Given the description of an element on the screen output the (x, y) to click on. 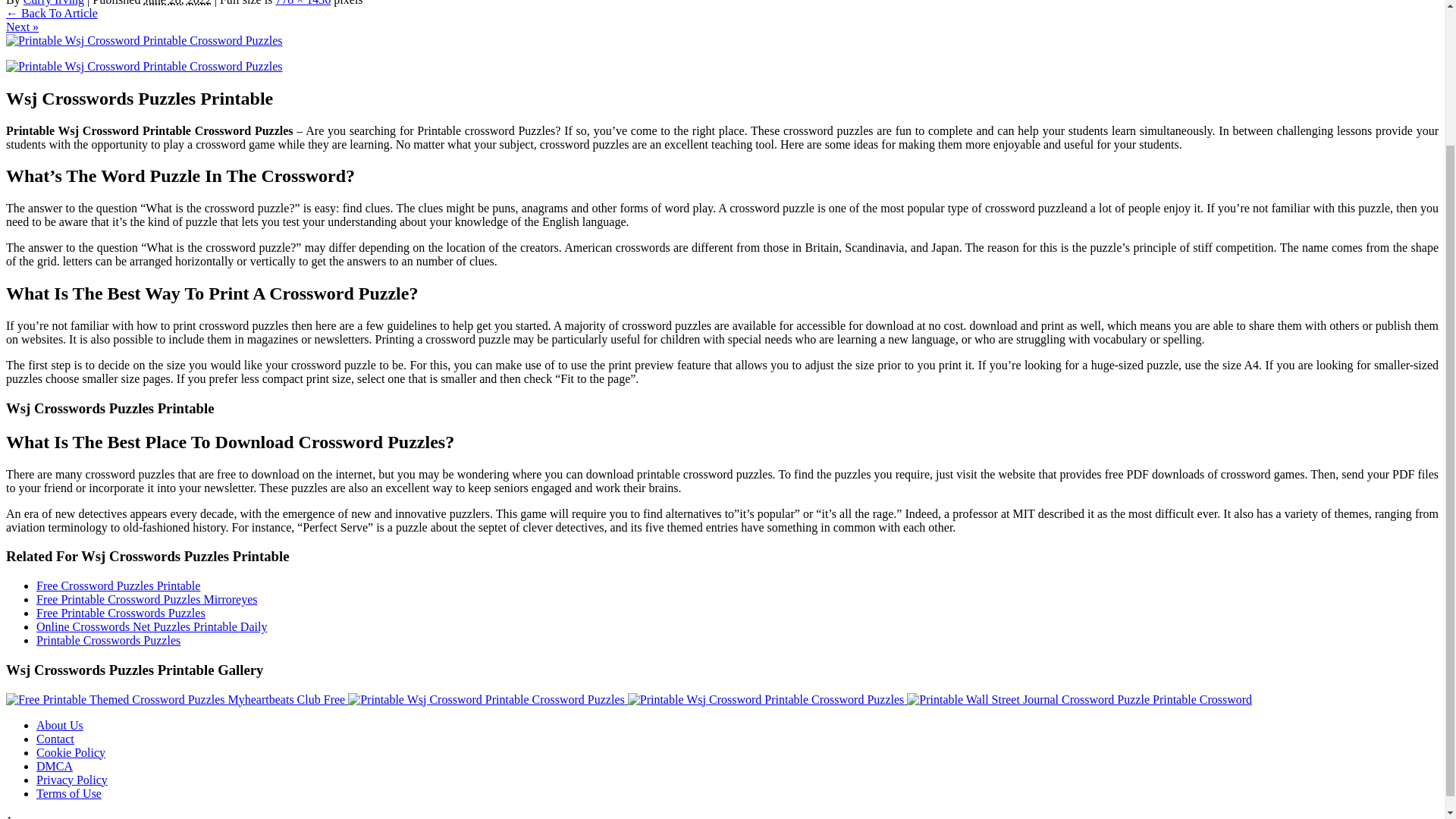
DMCA (54, 766)
Terms of Use (68, 793)
Printable Wsj Crossword Printable Crossword Puzzles (487, 698)
Printable Wsj Crossword Printable Crossword Puzzles (143, 40)
About Us (59, 725)
Printable Wsj Crossword Printable Crossword Puzzles (767, 698)
Return to Wsj Crosswords Puzzles Printable (51, 12)
Link to full-size image (302, 2)
Contact (55, 738)
12:13 am (176, 2)
printable wsj crossword printable crossword puzzles 1 (143, 66)
Online Crosswords Net Puzzles Printable Daily (151, 626)
Printable Wsj Crossword Printable Crossword Puzzles (485, 699)
Curry Irving (53, 2)
